Given the description of an element on the screen output the (x, y) to click on. 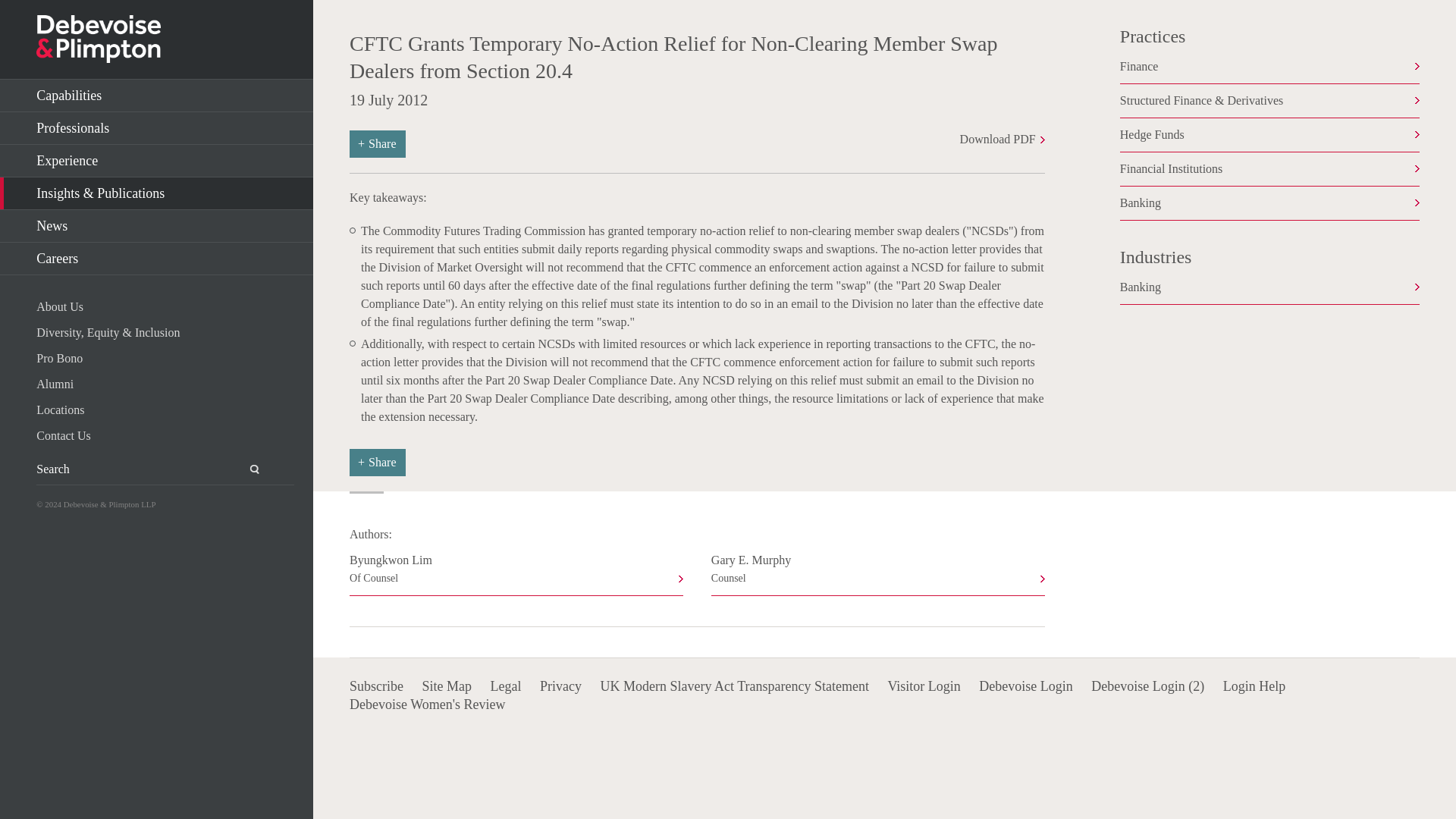
Privacy (560, 685)
Contact Us (165, 435)
Debevoise Login (1024, 685)
Alumni (165, 384)
UK Modern Slavery Act Transparency Statement (733, 685)
Download PDF (1002, 139)
Share (377, 461)
About Us (165, 307)
Experience (156, 160)
News (156, 225)
Capabilities (156, 95)
Search (245, 469)
Careers (156, 258)
Locations (165, 410)
Site Map (446, 685)
